Given the description of an element on the screen output the (x, y) to click on. 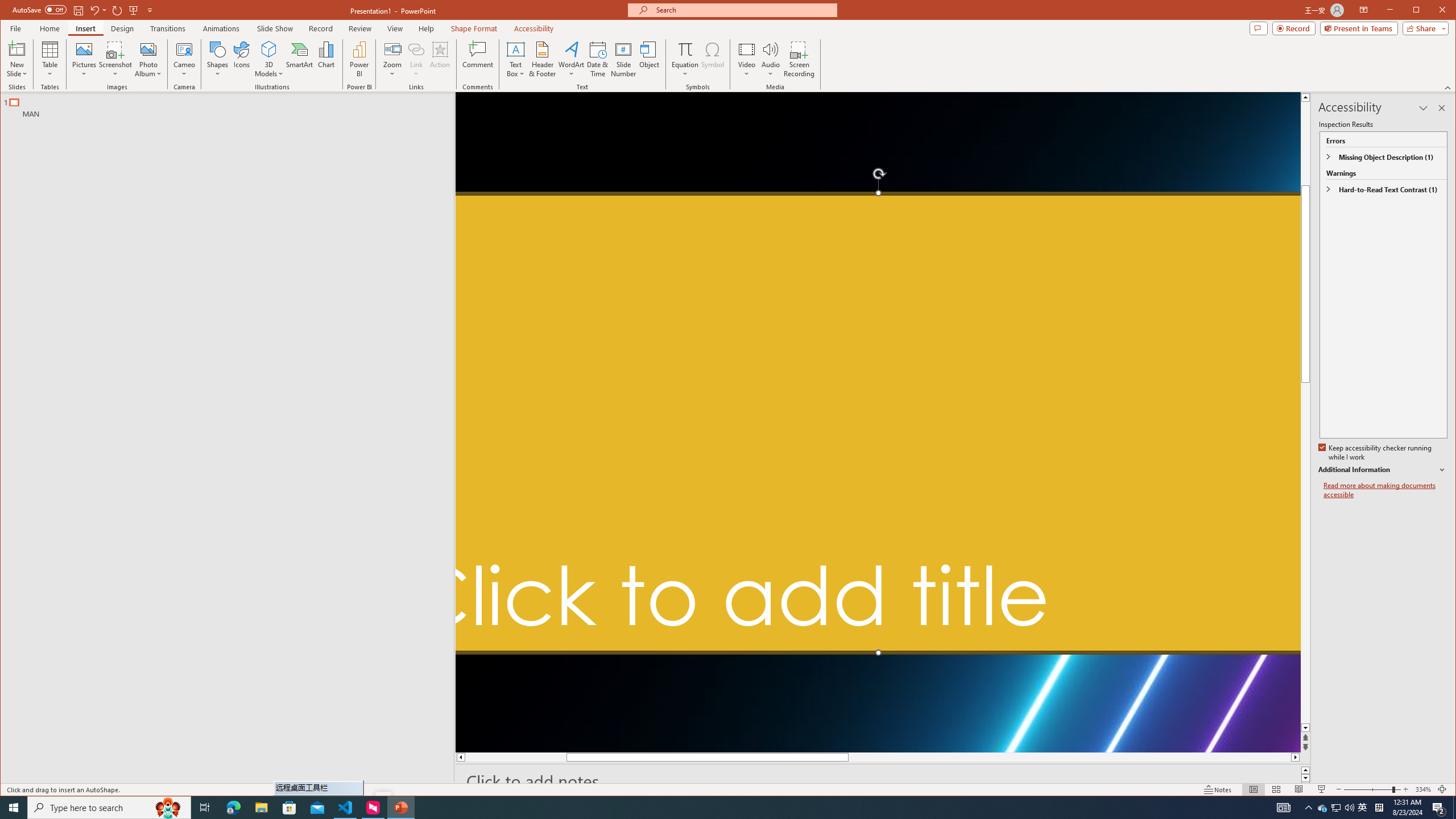
Object... (649, 59)
Screenshot (115, 59)
Header & Footer... (542, 59)
Draw Horizontal Text Box (515, 48)
